Given the description of an element on the screen output the (x, y) to click on. 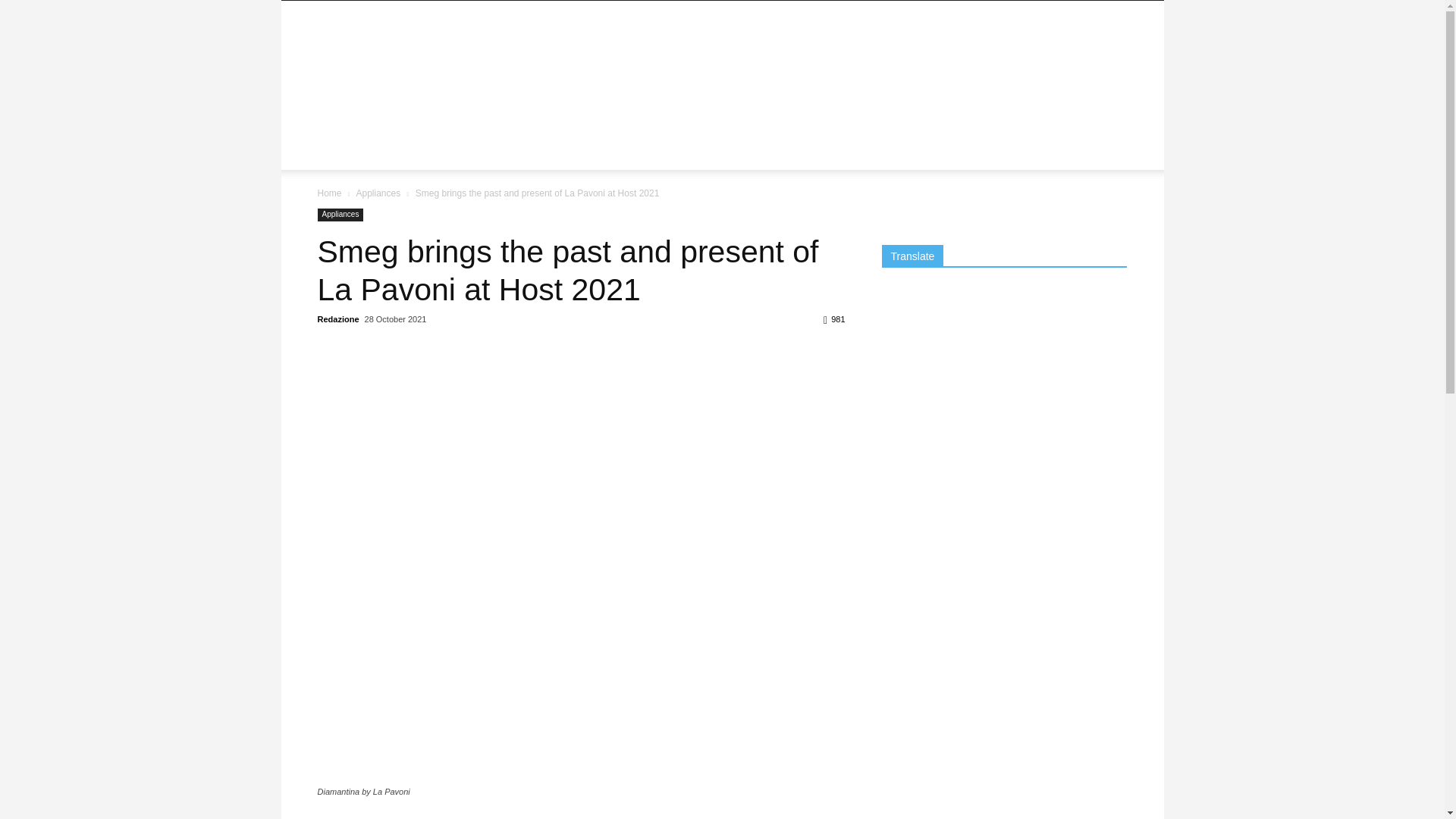
INDUSTRY (745, 115)
APPLIANCES (549, 115)
Appliances (339, 214)
DESIGN (347, 115)
Posts by Redazione (337, 318)
Home (328, 193)
Appliances (377, 193)
INTERIOR DECOR (651, 115)
CONSUMERS (828, 115)
WEB TV (347, 151)
